Given the description of an element on the screen output the (x, y) to click on. 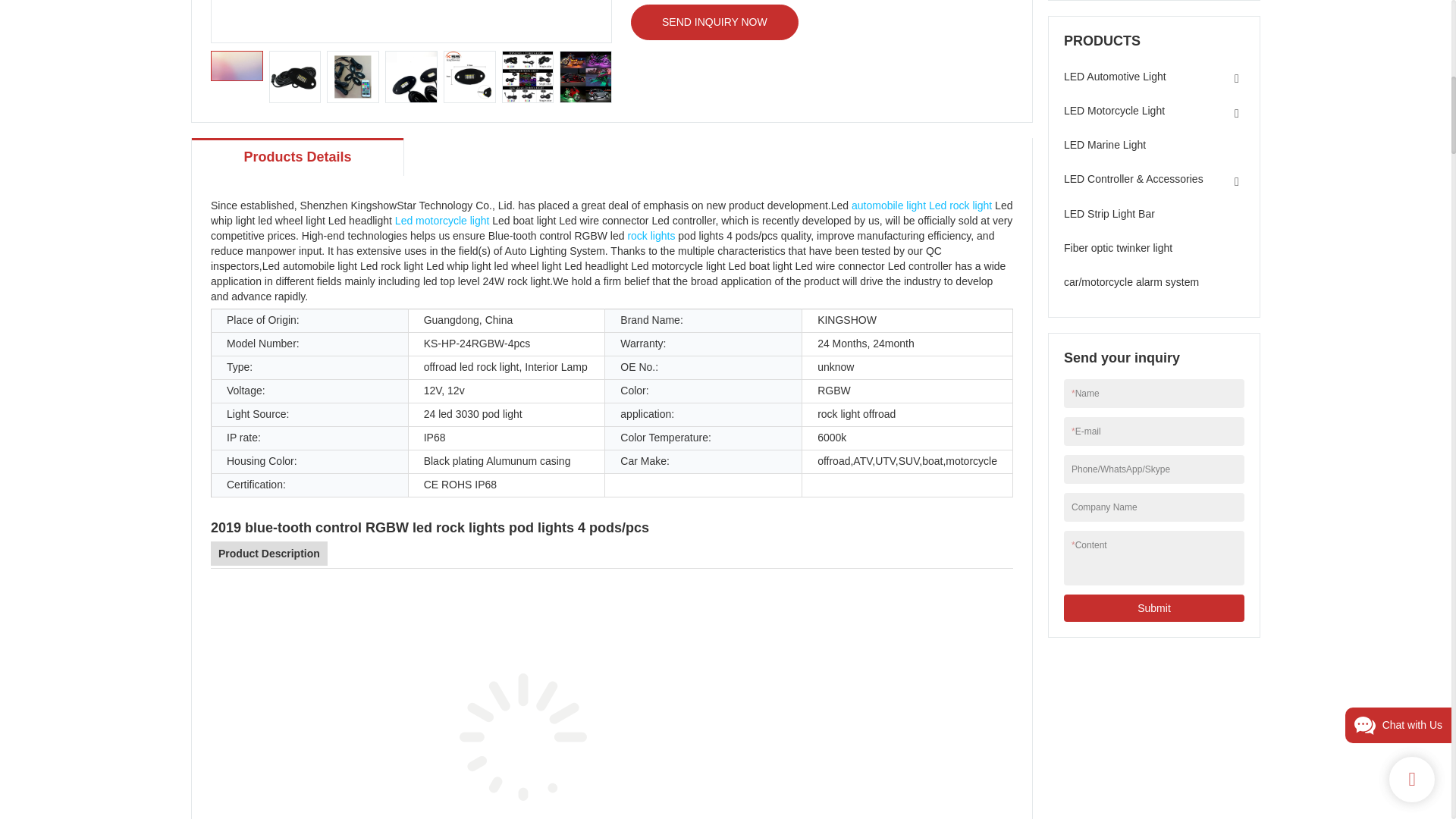
rock lights (651, 235)
Led motorcycle light (441, 220)
automobile light (888, 205)
Led rock light (959, 205)
